Given the description of an element on the screen output the (x, y) to click on. 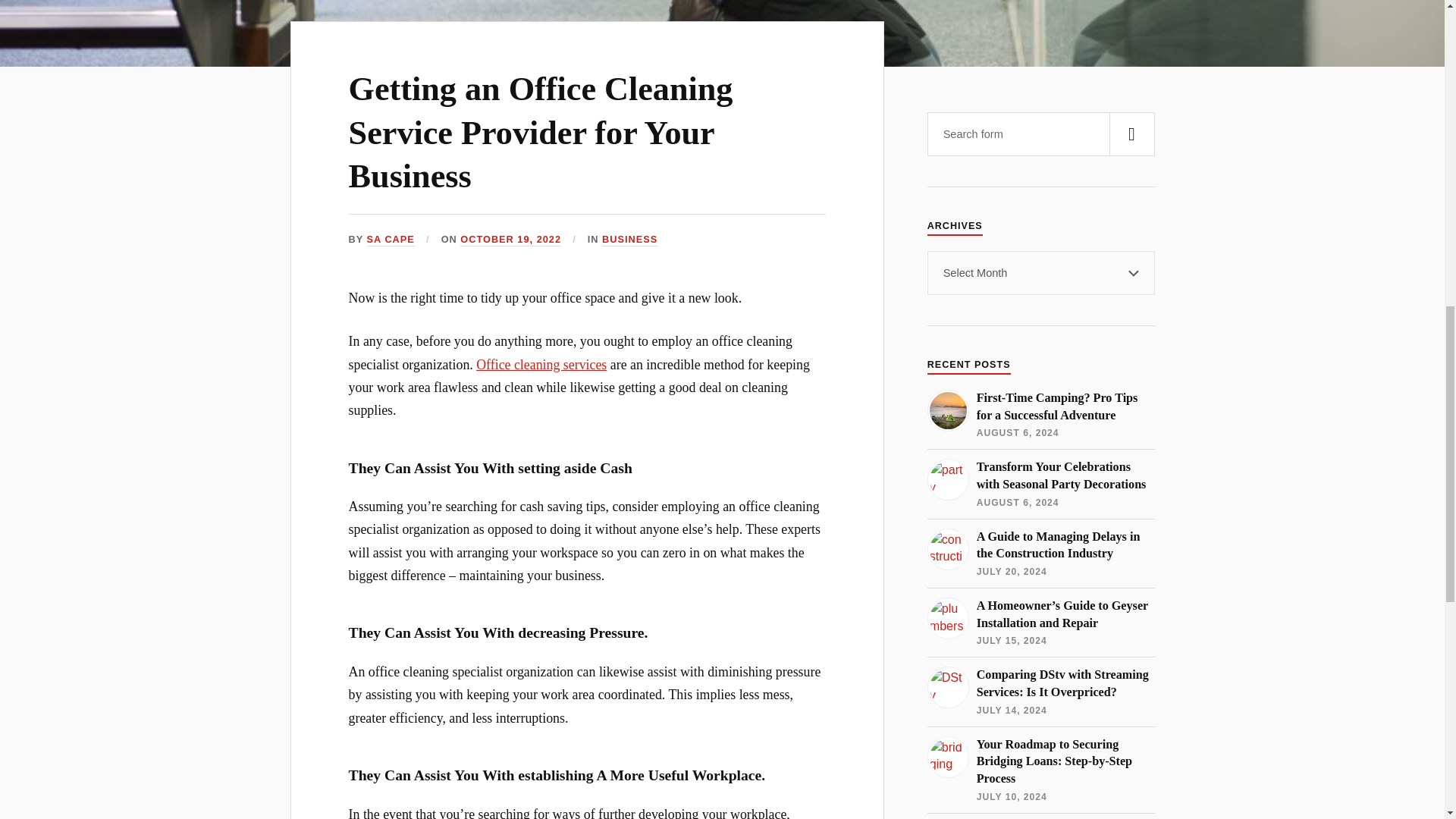
BUSINESS (630, 239)
Office cleaning services (541, 364)
OCTOBER 19, 2022 (510, 239)
Posts by SA Cape (390, 239)
SA CAPE (390, 239)
